Given the description of an element on the screen output the (x, y) to click on. 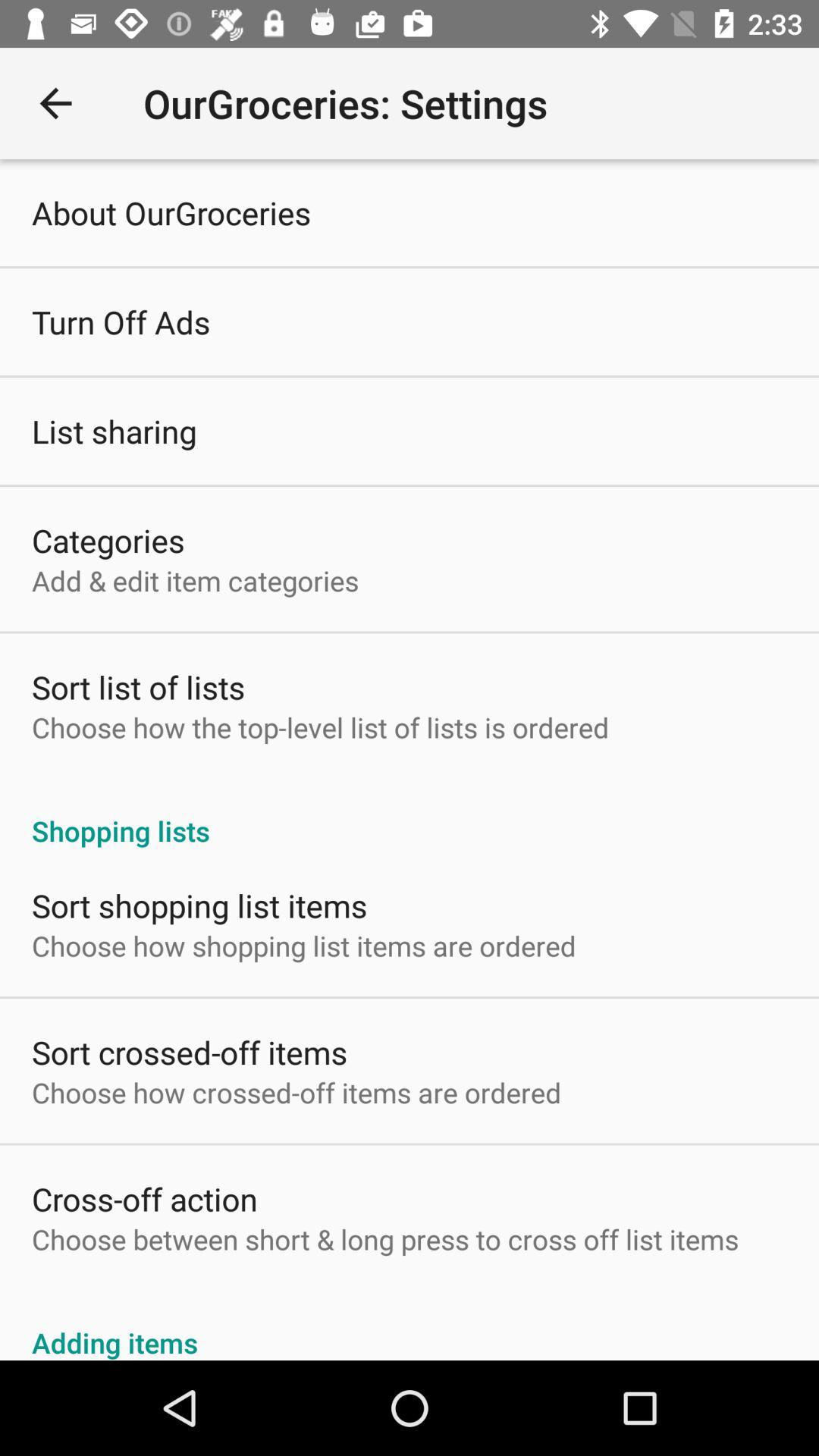
launch icon below turn off ads item (113, 430)
